Given the description of an element on the screen output the (x, y) to click on. 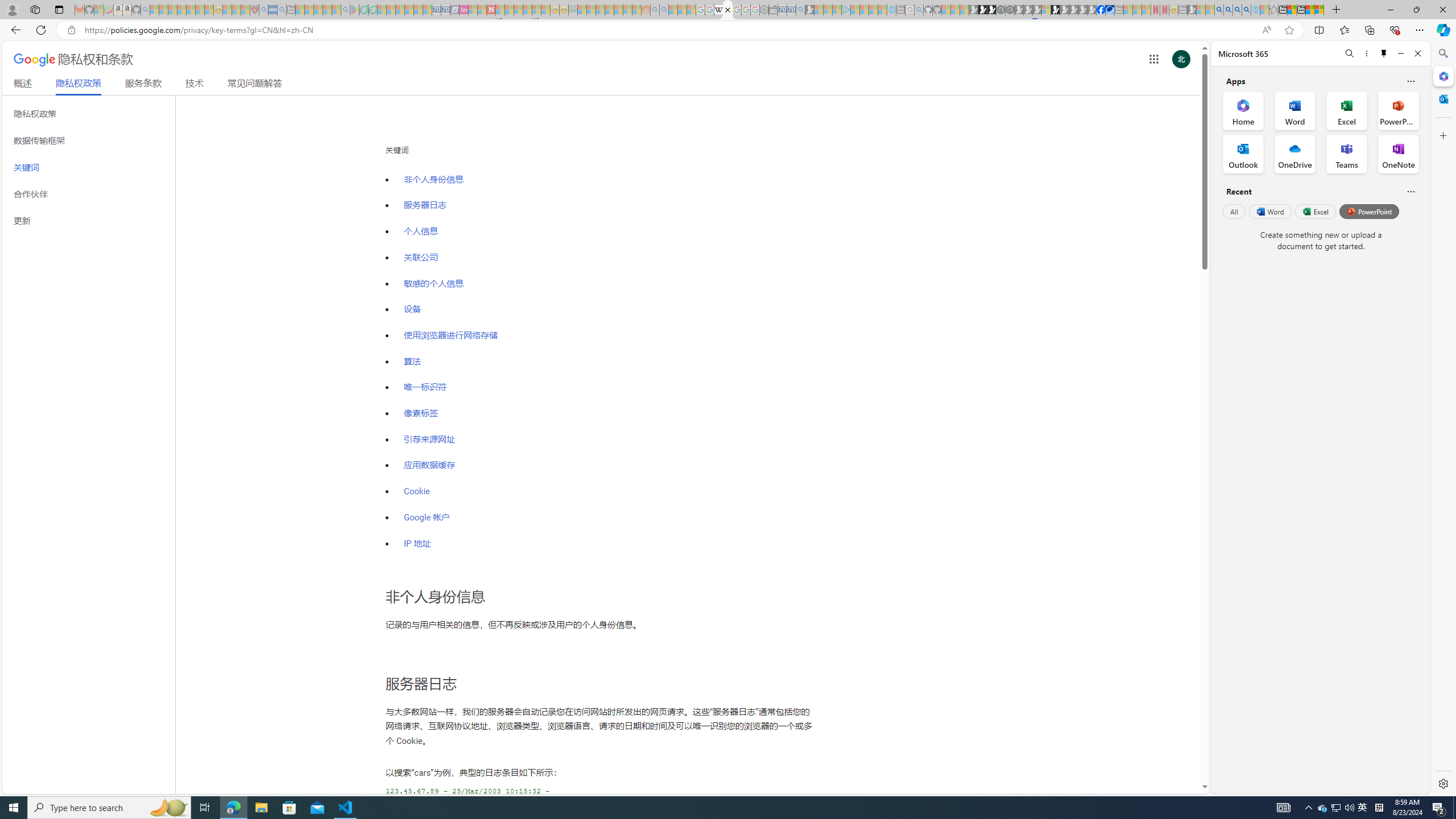
Google Chrome Internet Browser Download - Search Images (1246, 9)
